Given the description of an element on the screen output the (x, y) to click on. 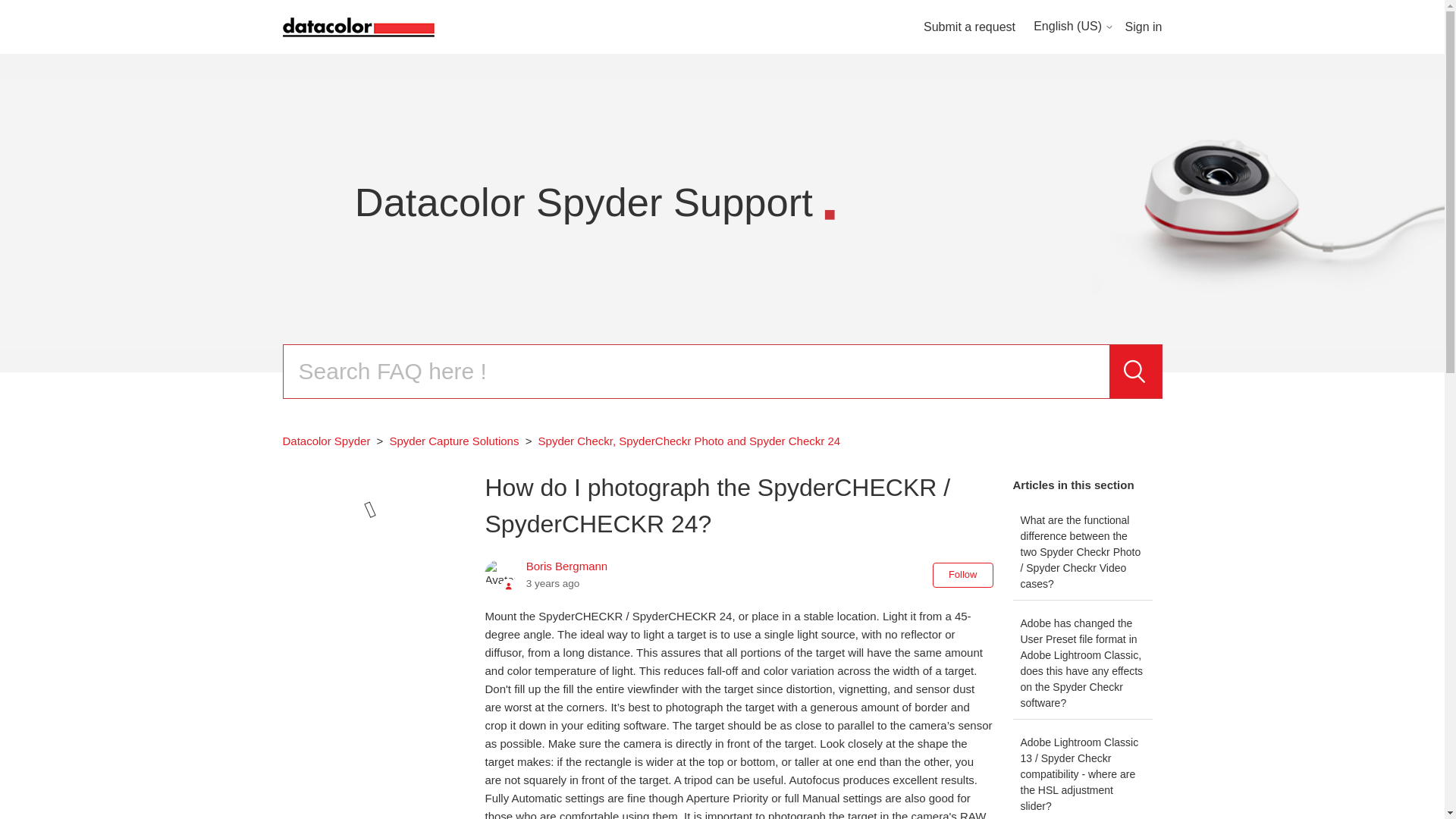
2021-09-08 21:56 (552, 583)
Datacolor Spyder (325, 440)
Spyder Checkr, SpyderCheckr Photo and Spyder Checkr 24 (689, 440)
Search (1134, 371)
Home (357, 24)
Follow (962, 574)
Opens a dialog (1143, 27)
Search (1134, 371)
Spyder Capture Solutions (454, 440)
Boris Bergmann (566, 565)
Spyder Checkr, SpyderCheckr Photo and Spyder Checkr 24 (681, 440)
Spyder Capture Solutions (448, 440)
Sign in (1143, 27)
